Given the description of an element on the screen output the (x, y) to click on. 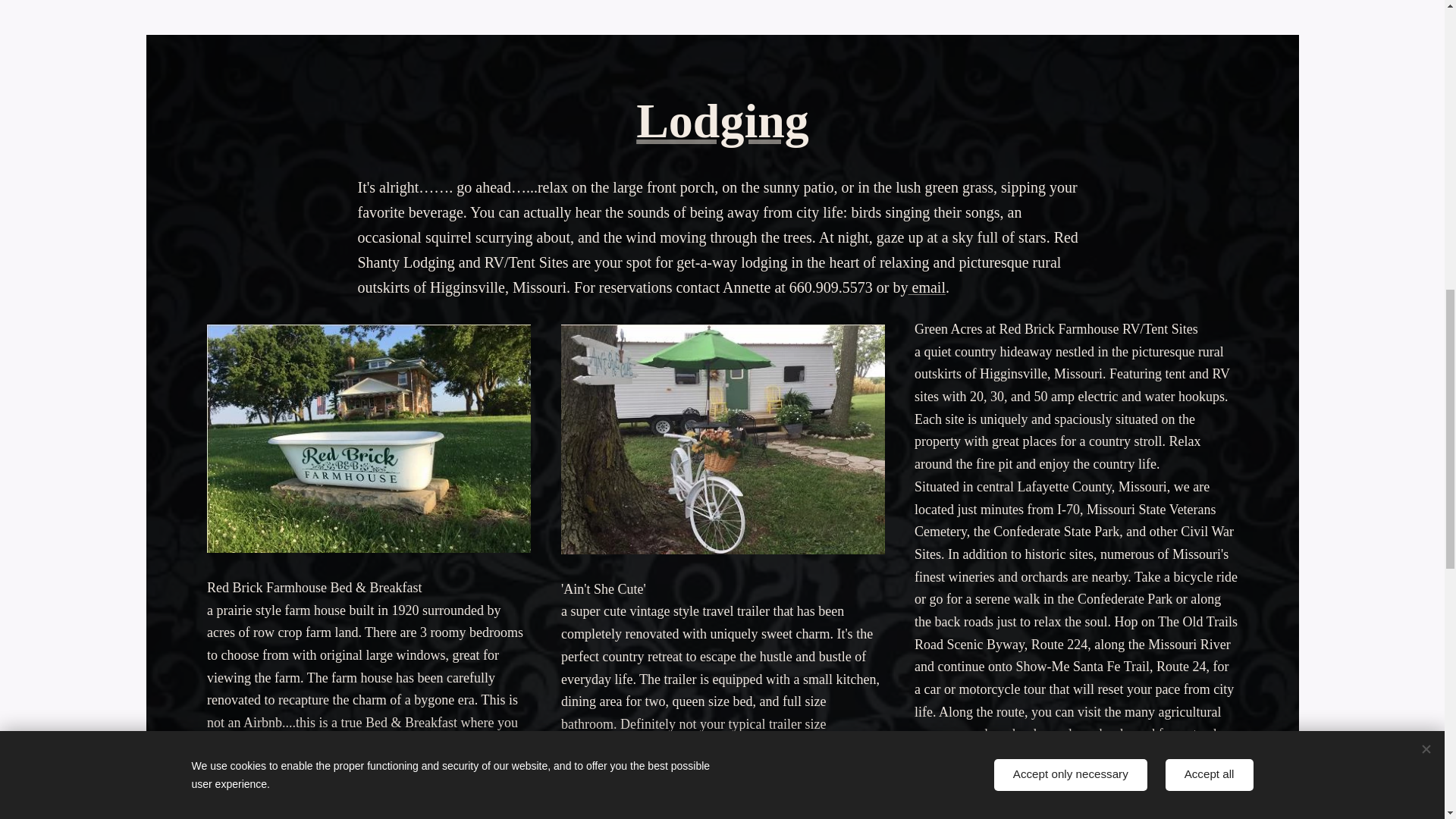
Lodging (722, 121)
email (925, 287)
